Given the description of an element on the screen output the (x, y) to click on. 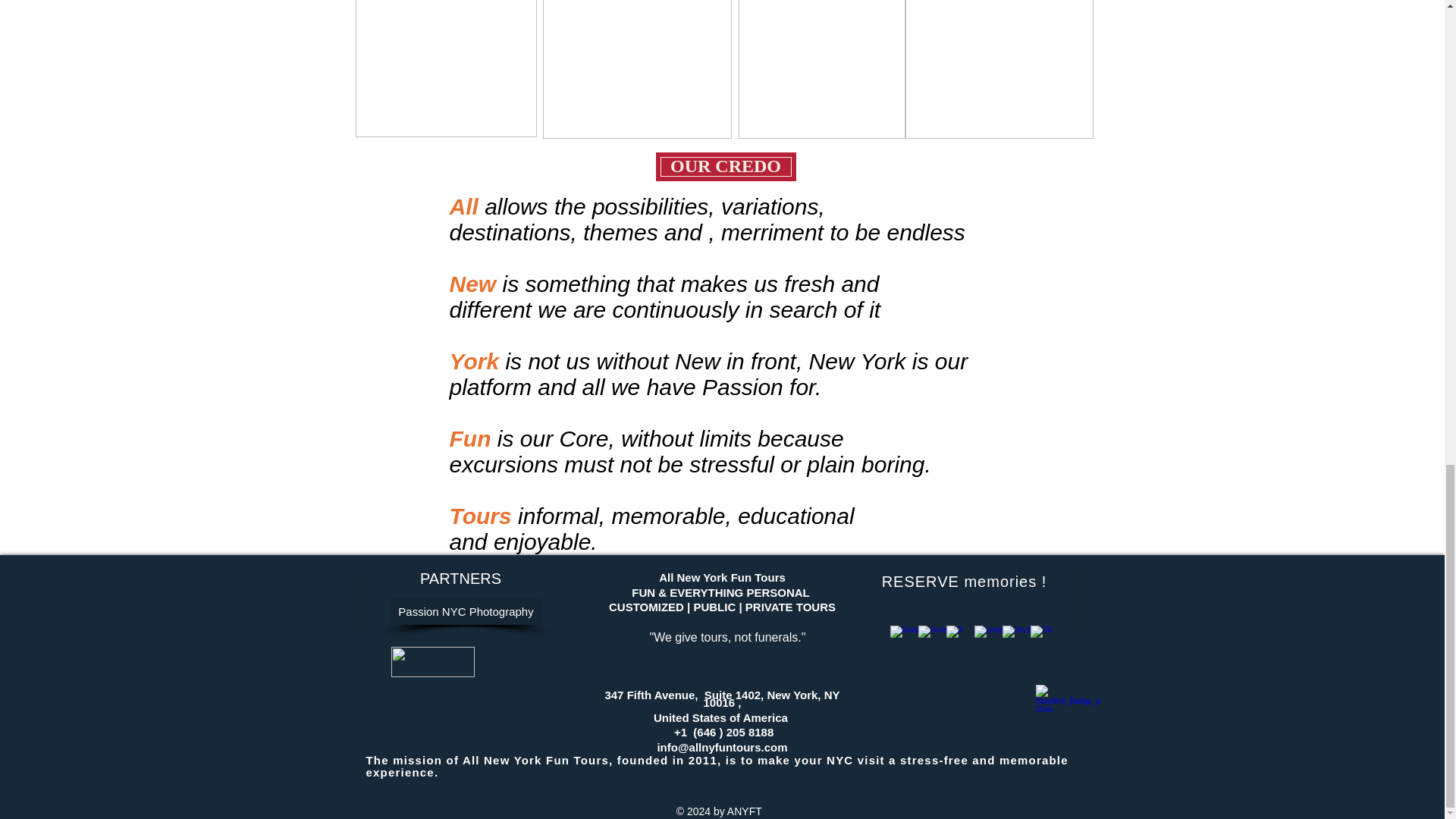
mosaic central park.JPG (821, 69)
Angel Bethesda.JPG (999, 69)
RESERVE memories ! (964, 581)
city experiences.webp (432, 662)
